Given the description of an element on the screen output the (x, y) to click on. 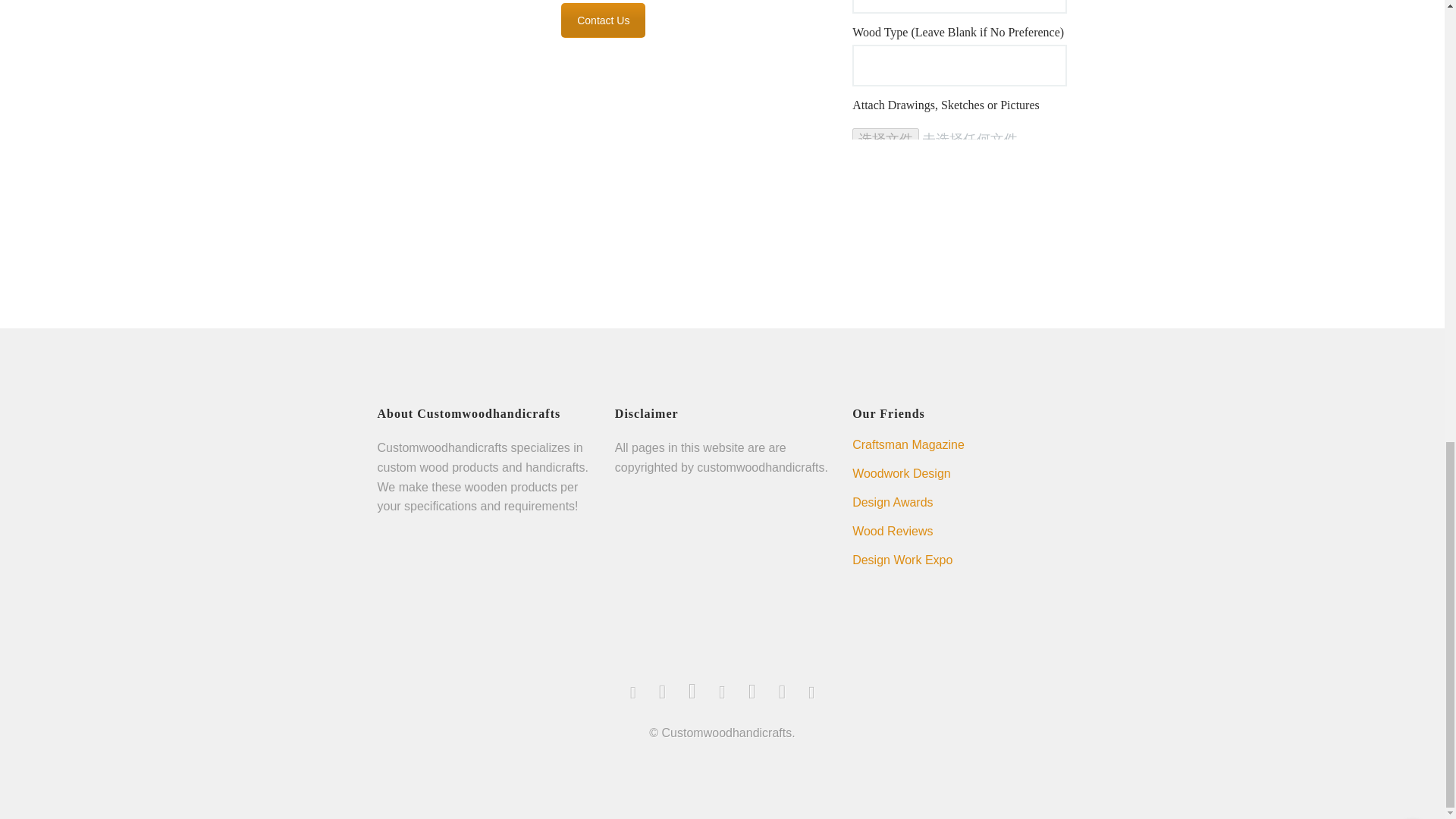
Send (883, 168)
